Given the description of an element on the screen output the (x, y) to click on. 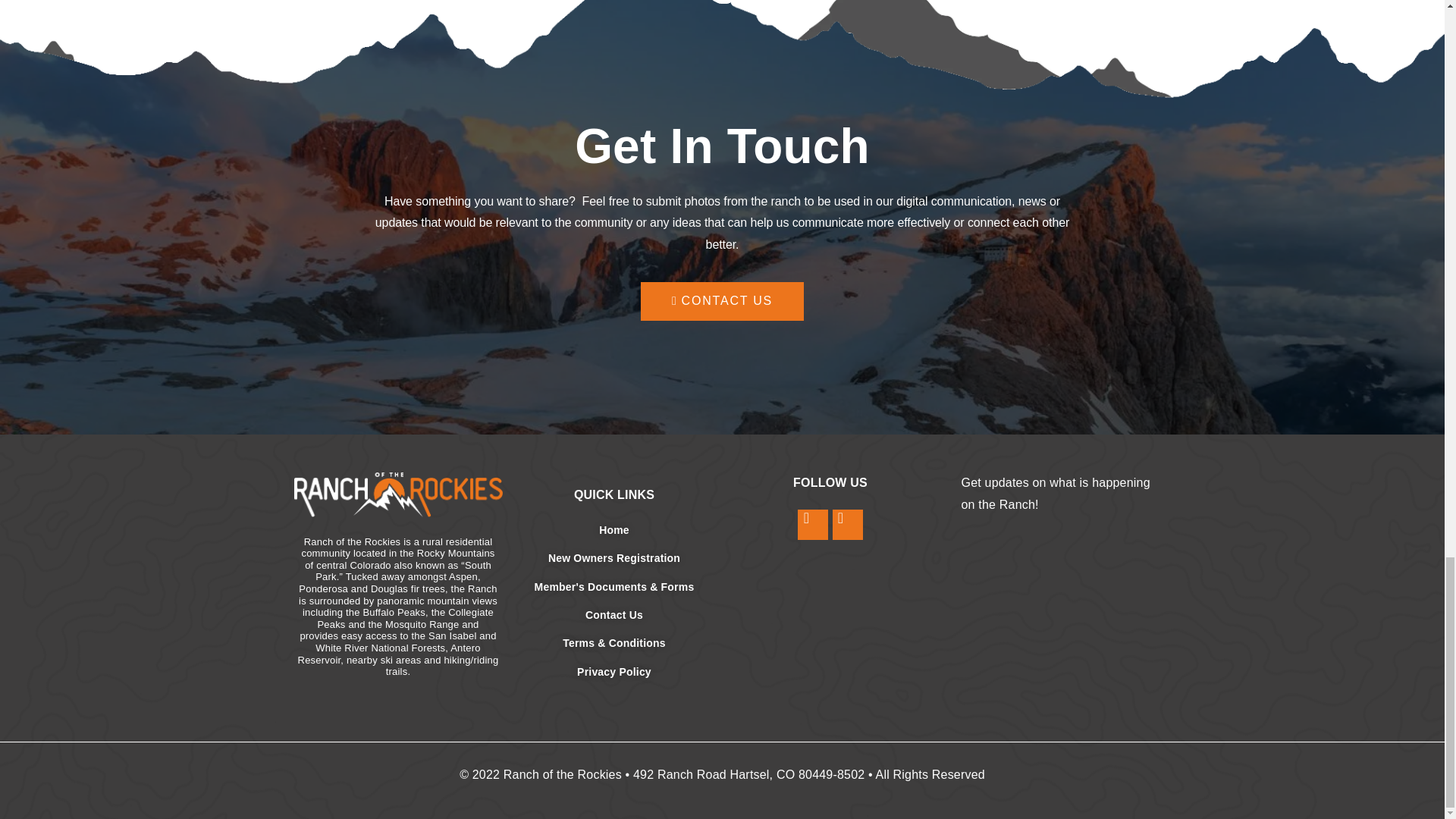
CONTACT US (721, 301)
Home (613, 529)
New Owners Registration (613, 557)
Privacy Policy (613, 671)
Contact Us (613, 614)
